Given the description of an element on the screen output the (x, y) to click on. 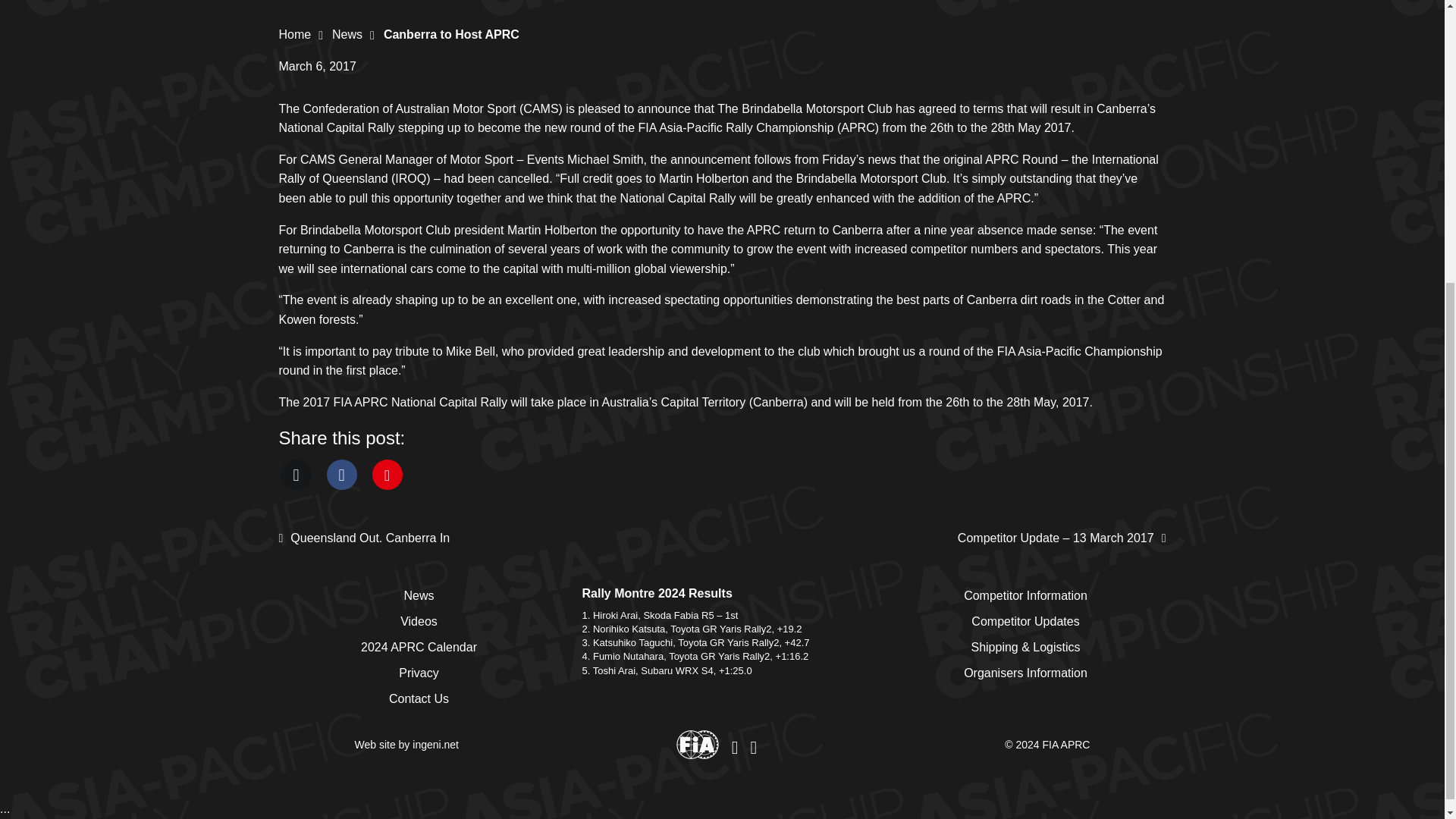
Share on Facebook (341, 474)
Canberra to Host APRC (451, 33)
Organisers Information (1025, 672)
Queensland Out. Canberra In (364, 537)
News (346, 33)
Share on Email (386, 474)
News (419, 595)
Videos (419, 621)
Competitor Information (1025, 595)
News (346, 33)
ingeni.net (435, 744)
2024 APRC Calendar (419, 647)
Competitor Updates (1025, 621)
Contact Us (419, 699)
Home (295, 33)
